Given the description of an element on the screen output the (x, y) to click on. 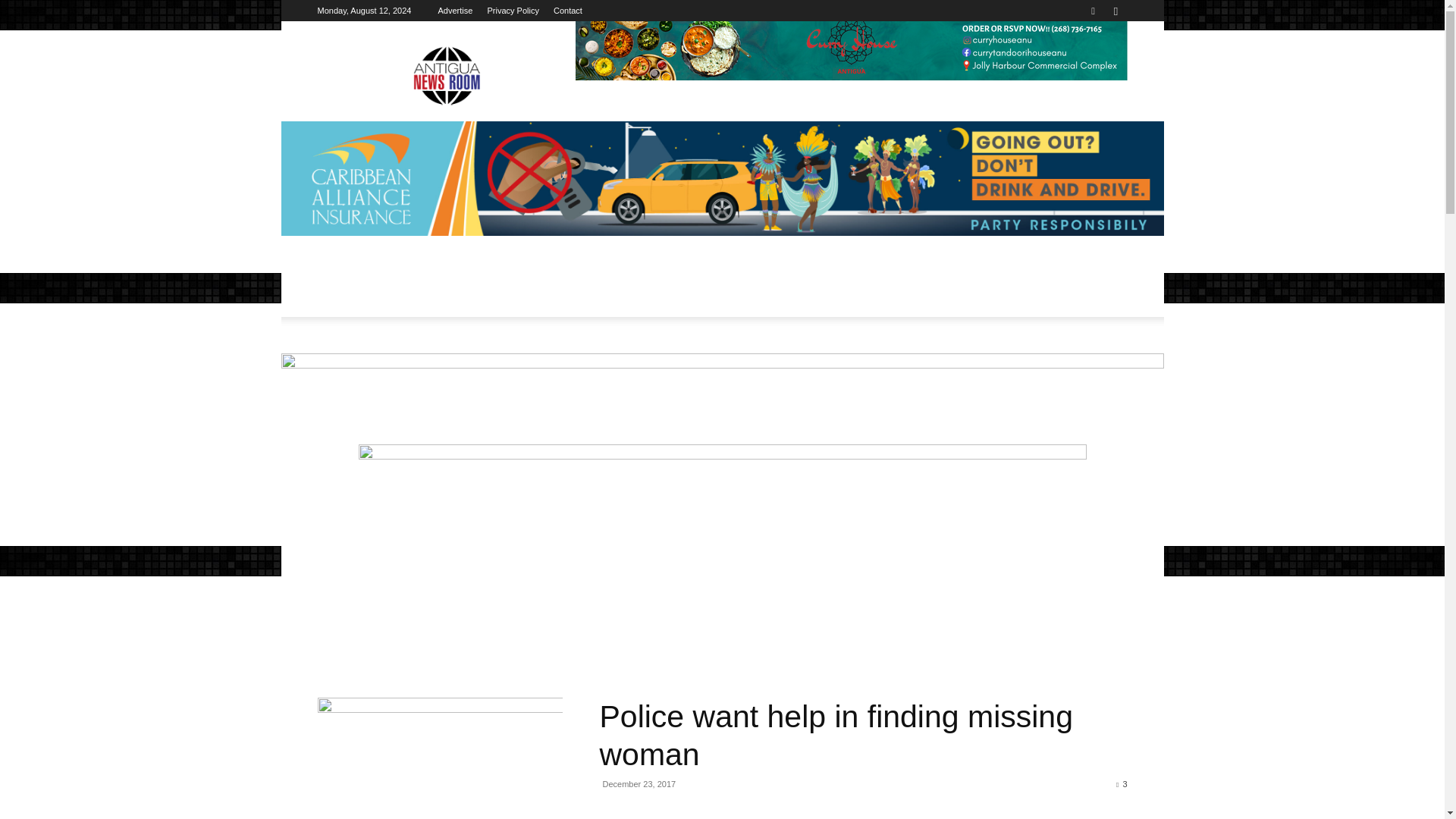
Privacy Policy (512, 10)
Advertise (455, 10)
Search (1085, 64)
Instagram (1114, 10)
LOCAL NEWS (416, 286)
Contact (567, 10)
